Given the description of an element on the screen output the (x, y) to click on. 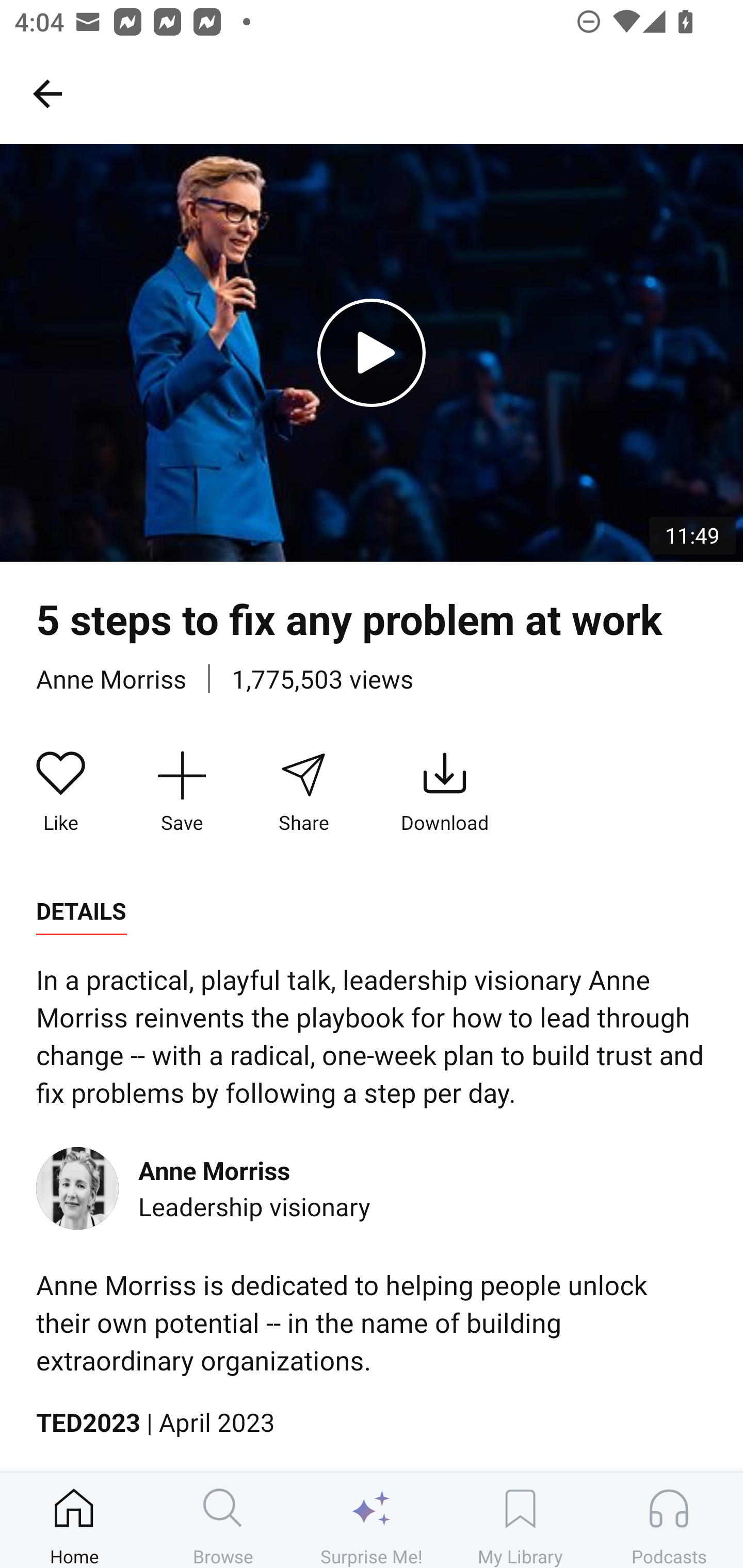
Home, back (47, 92)
Like (60, 793)
Save (181, 793)
Share (302, 793)
Download (444, 793)
DETAILS (80, 911)
Home (74, 1520)
Browse (222, 1520)
Surprise Me! (371, 1520)
My Library (519, 1520)
Podcasts (668, 1520)
